Given the description of an element on the screen output the (x, y) to click on. 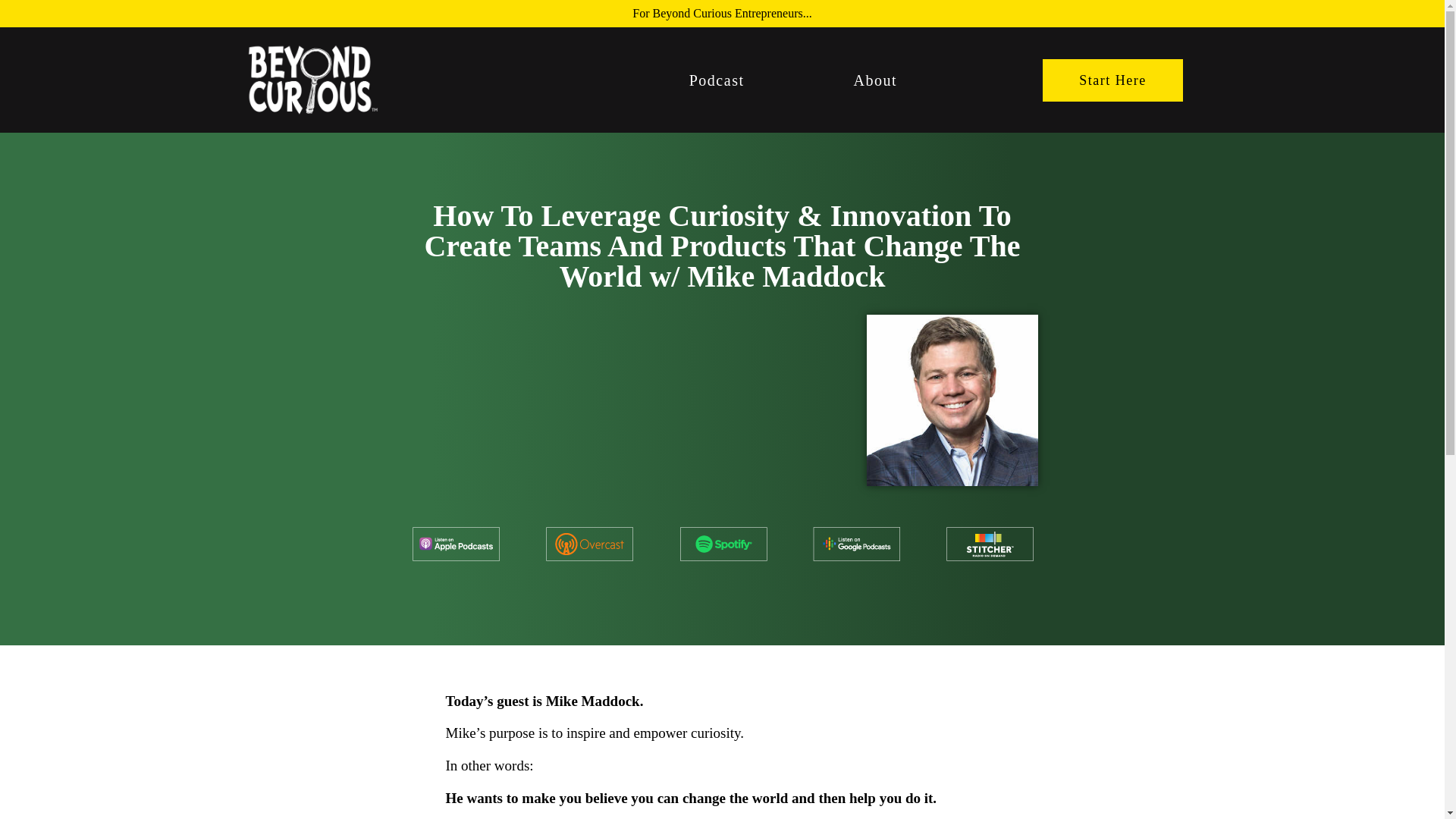
Podcast (716, 80)
Start Here (1112, 79)
About (874, 80)
